Given the description of an element on the screen output the (x, y) to click on. 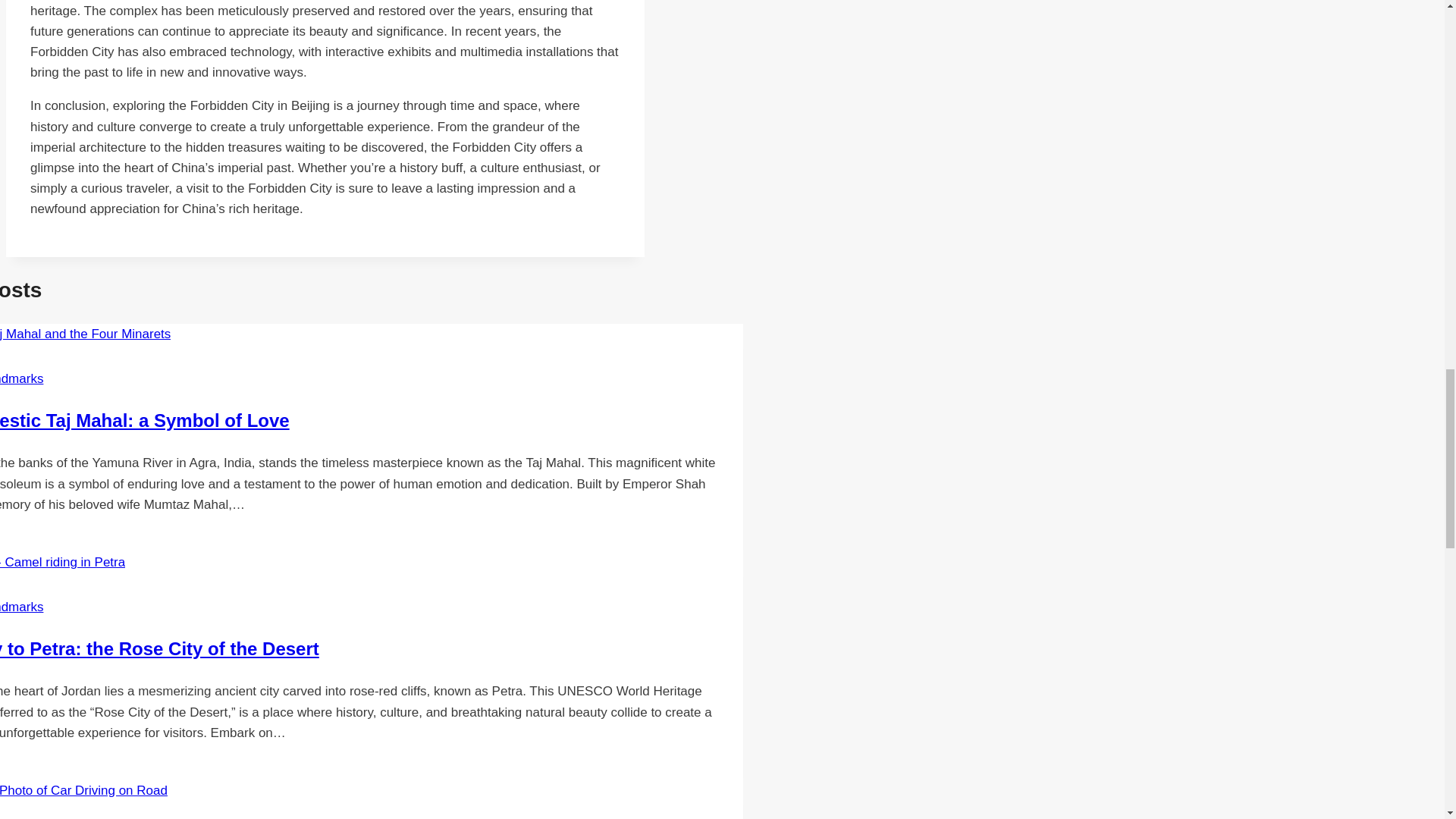
Cultural Landmarks (21, 378)
Cultural Landmarks (21, 606)
Journey to Petra: the Rose City of the Desert (159, 648)
The Majestic Taj Mahal: a Symbol of Love (144, 420)
